Given the description of an element on the screen output the (x, y) to click on. 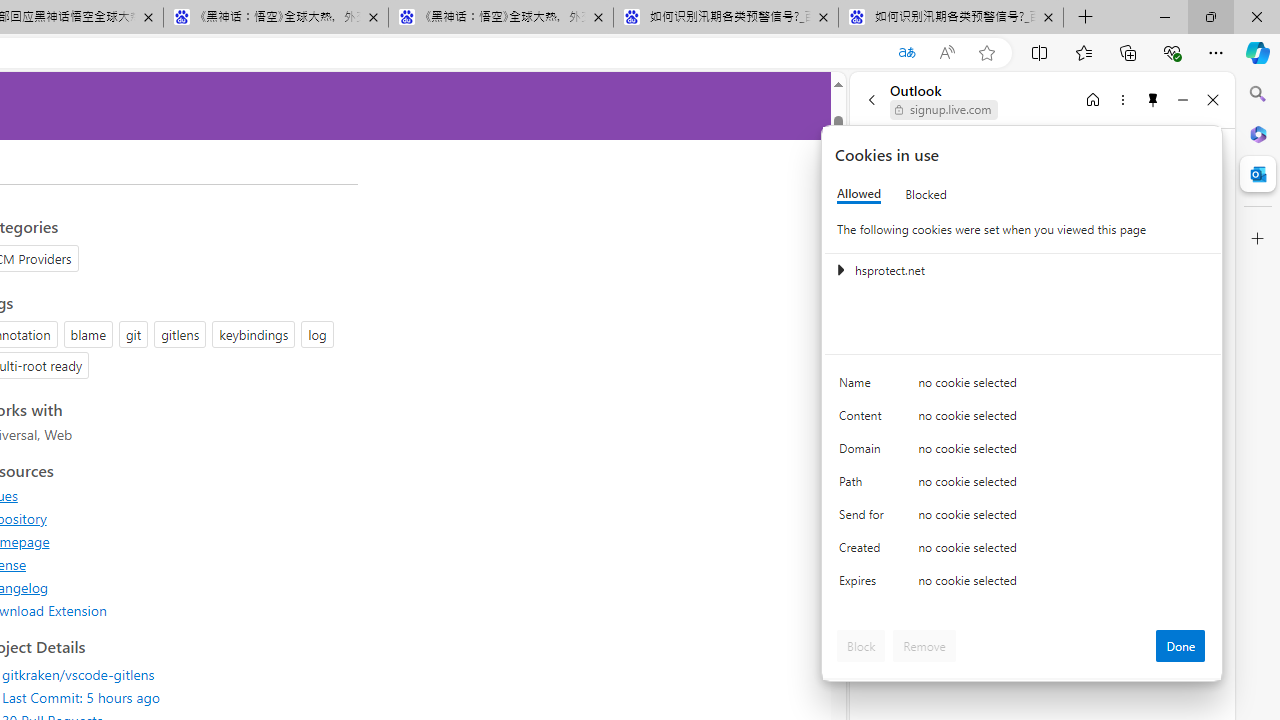
Remove (924, 645)
Class: c0153 c0157 c0154 (1023, 386)
Content (864, 420)
Class: c0153 c0157 (1023, 584)
Domain (864, 452)
Created (864, 552)
Allowed (859, 193)
Block (861, 645)
Done (1179, 645)
Path (864, 485)
Name (864, 387)
no cookie selected (1062, 585)
Blocked (925, 193)
Expires (864, 585)
Send for (864, 518)
